Given the description of an element on the screen output the (x, y) to click on. 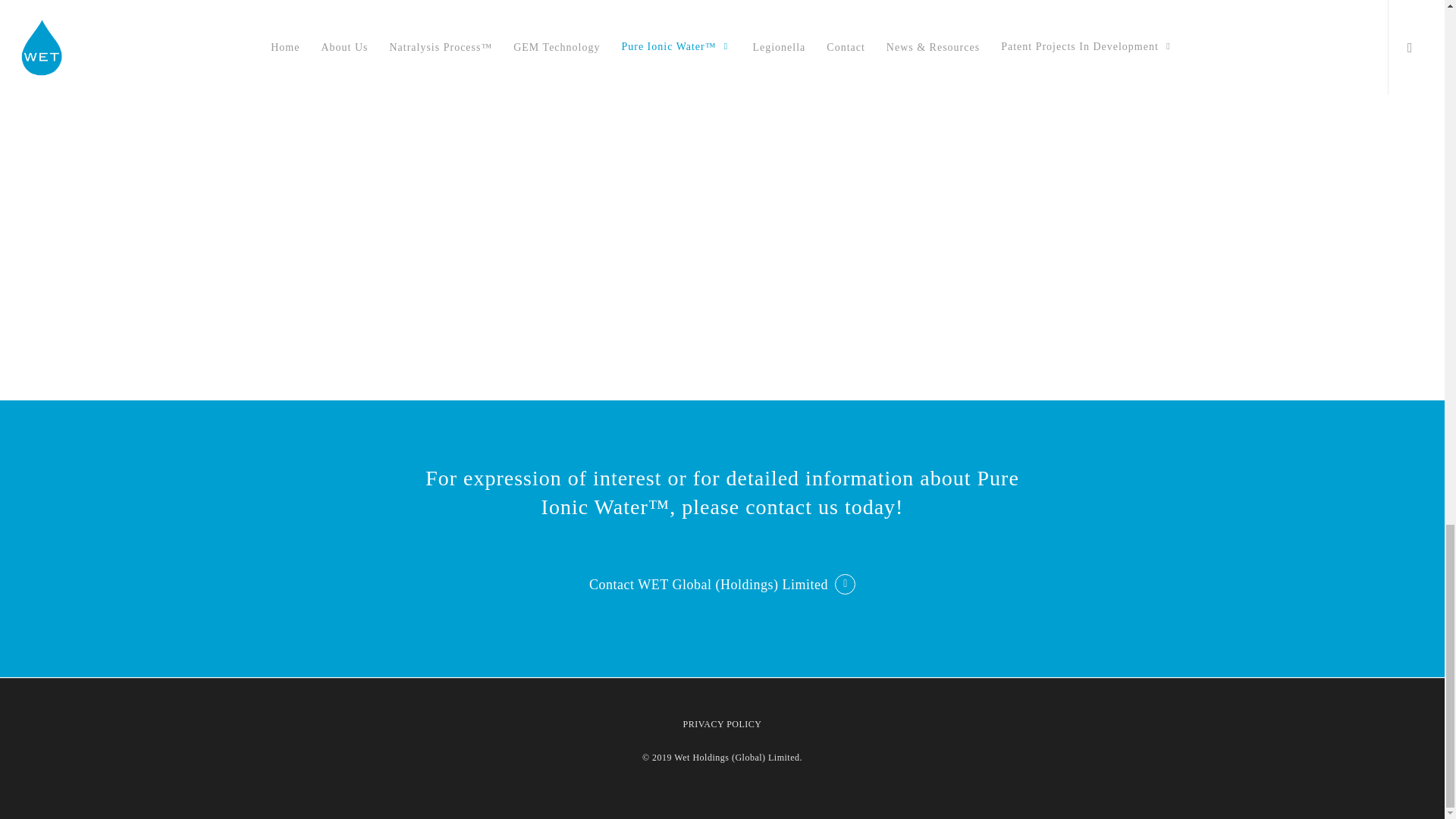
PRIVACY POLICY (721, 724)
